Given the description of an element on the screen output the (x, y) to click on. 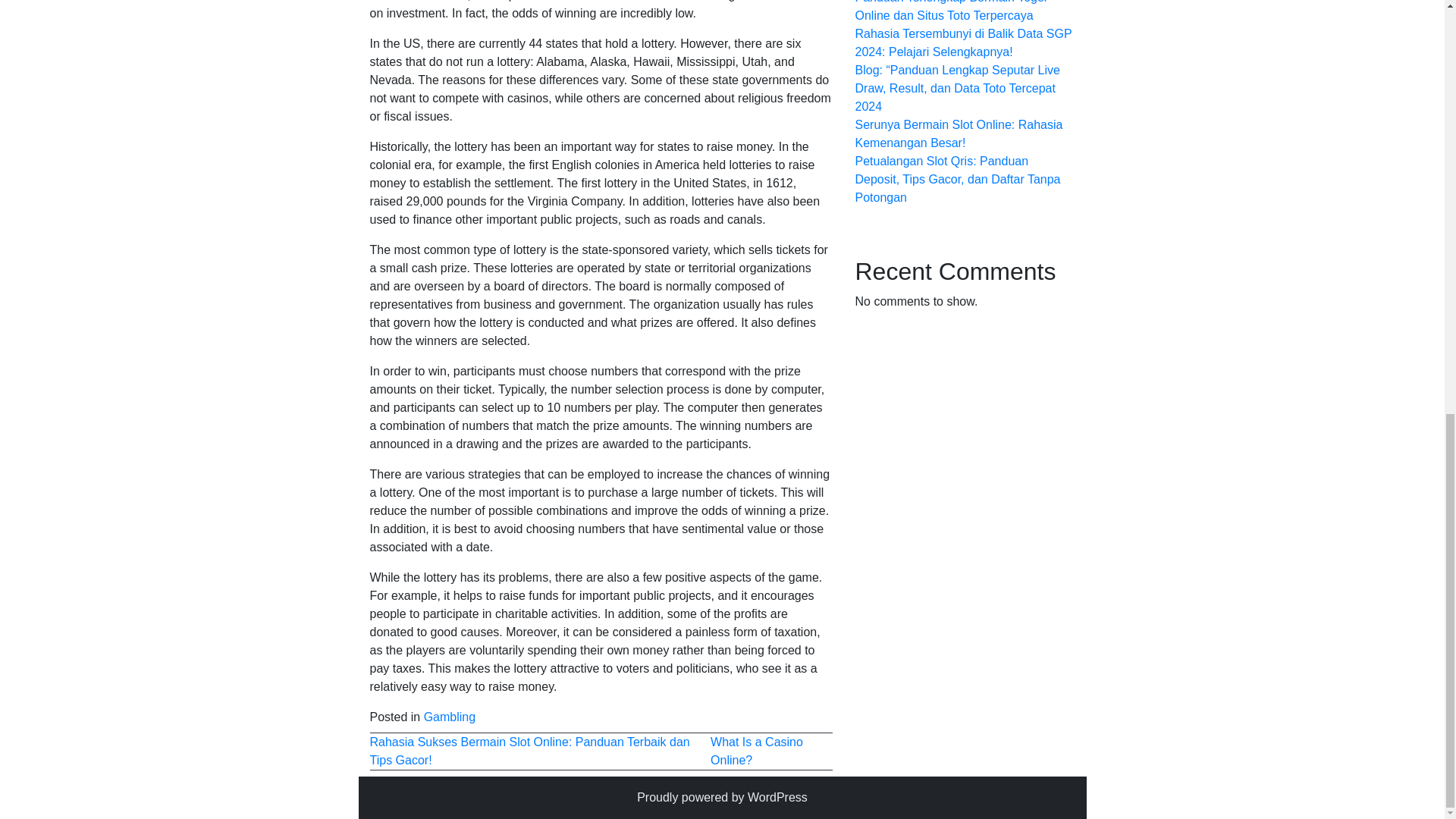
What Is a Casino Online? (756, 750)
Gambling (449, 716)
